Given the description of an element on the screen output the (x, y) to click on. 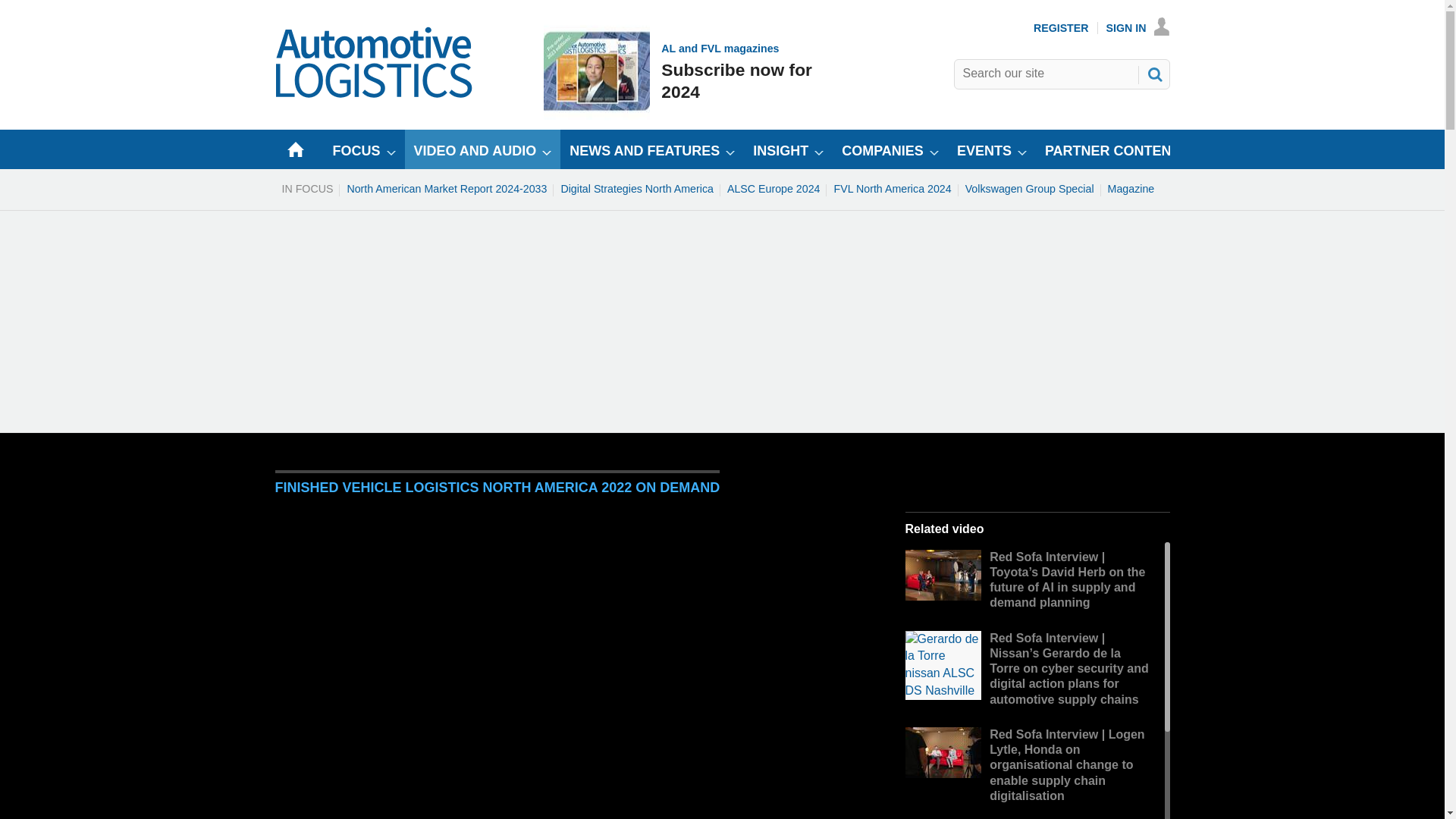
Digital Strategies North America (636, 188)
REGISTER (1061, 28)
SEARCH (1153, 74)
Automotive Logistics (375, 94)
North American Market Report 2024-2033 (446, 188)
Volkswagen Group Special (1029, 188)
YouTube video player (679, 70)
Magazine (773, 188)
FVL North America 2024 (1130, 188)
SIGN IN (892, 188)
